Given the description of an element on the screen output the (x, y) to click on. 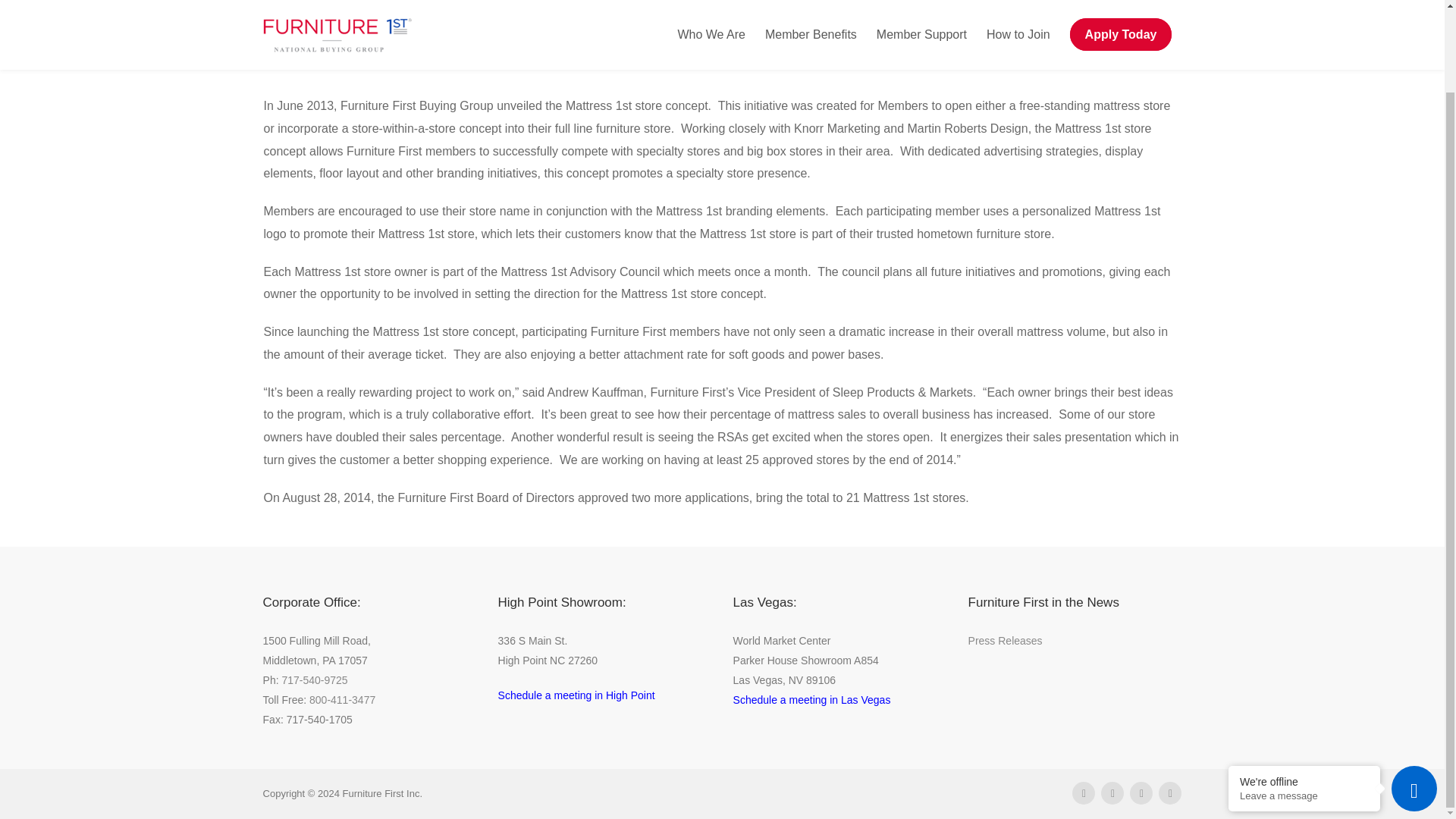
Leave a message (1304, 702)
We're offline (1304, 688)
